Given the description of an element on the screen output the (x, y) to click on. 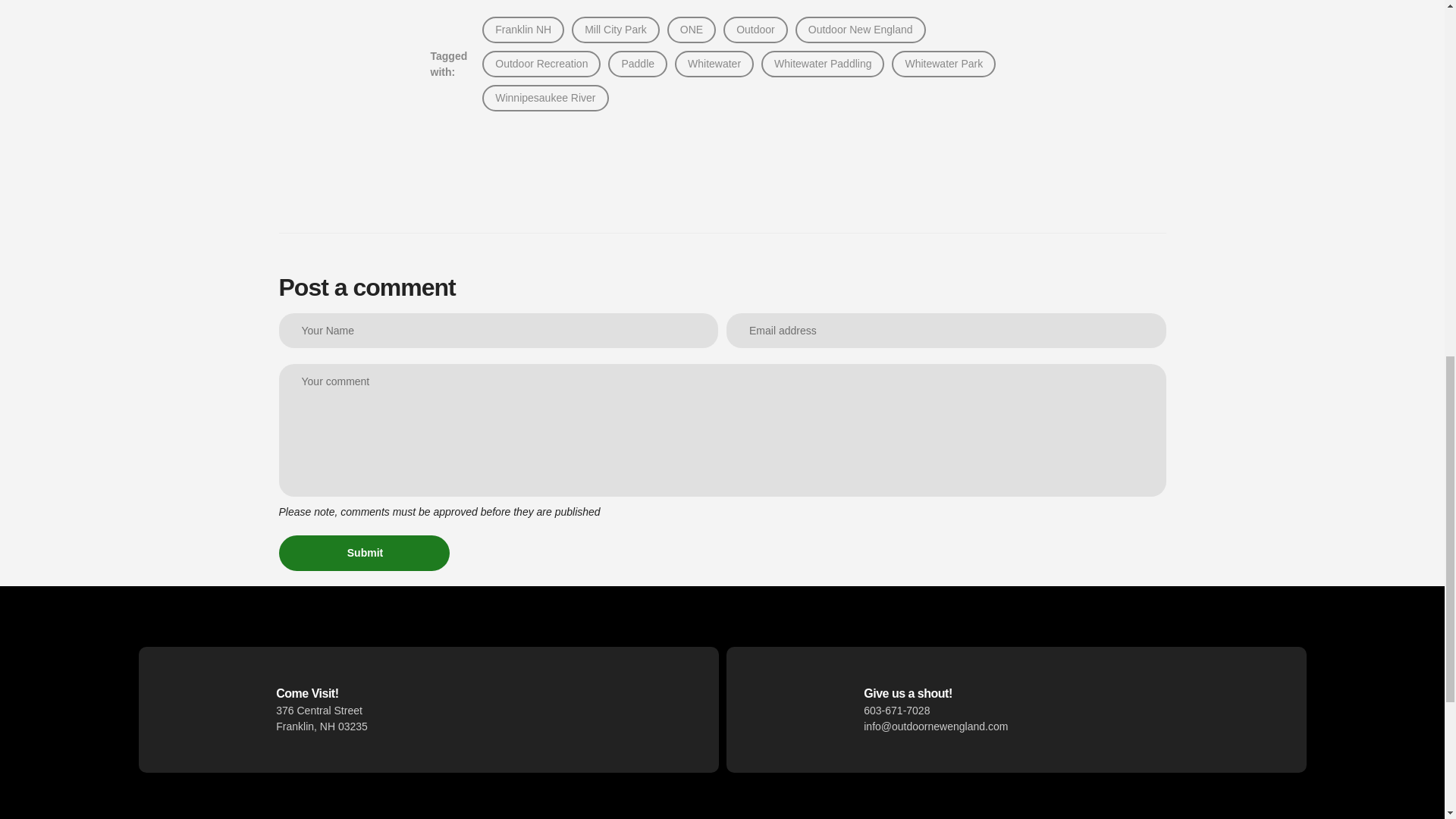
Show articles tagged Franklin NH (523, 29)
Show articles tagged Mill City Park (615, 29)
Show articles tagged Paddle (637, 64)
Show articles tagged Winnipesaukee River (545, 98)
Submit (364, 553)
Show articles tagged Whitewater (714, 64)
Show articles tagged Outdoor New England (860, 29)
Show articles tagged Whitewater Park (943, 64)
Show articles tagged ONE (691, 29)
Show articles tagged Outdoor (755, 29)
